Given the description of an element on the screen output the (x, y) to click on. 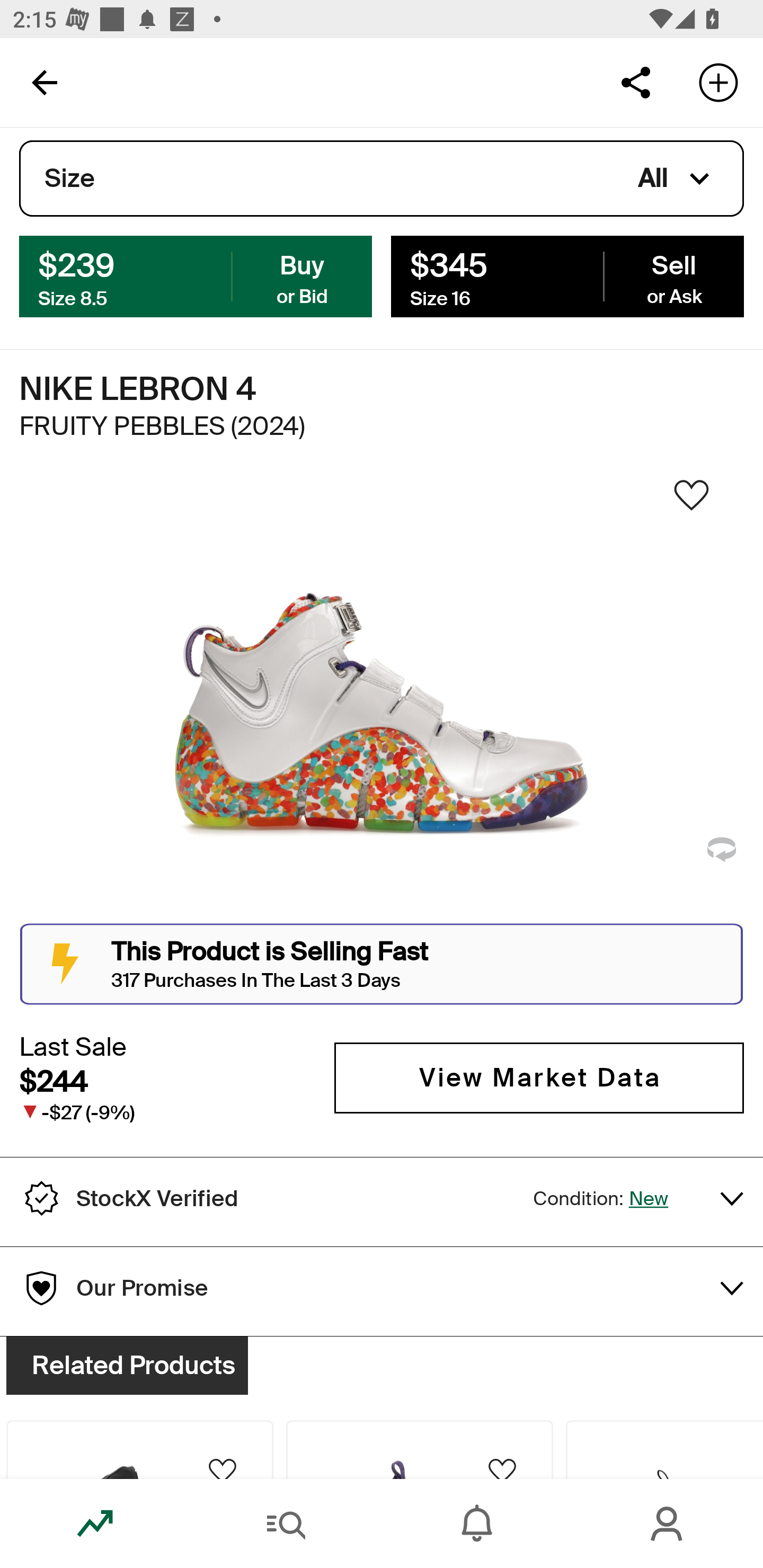
Share (635, 81)
Add (718, 81)
Size All (381, 178)
$239 Buy Size 8.5 or Bid (195, 275)
$345 Sell Size 16 or Ask (566, 275)
Sneaker Image (381, 699)
View Market Data (538, 1077)
Search (285, 1523)
Inbox (476, 1523)
Account (667, 1523)
